Given the description of an element on the screen output the (x, y) to click on. 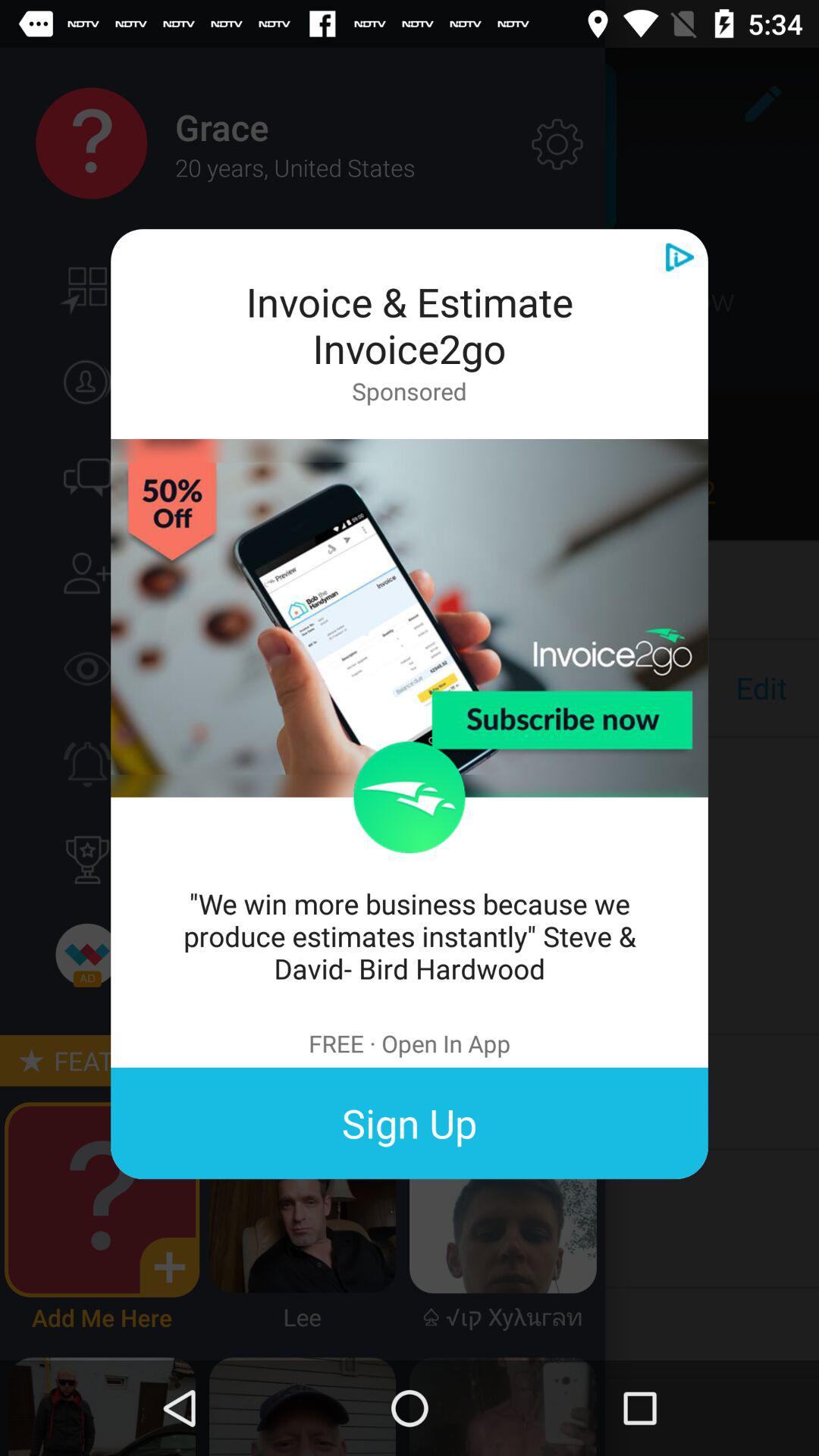
turn on the icon below the free open in icon (409, 1123)
